Given the description of an element on the screen output the (x, y) to click on. 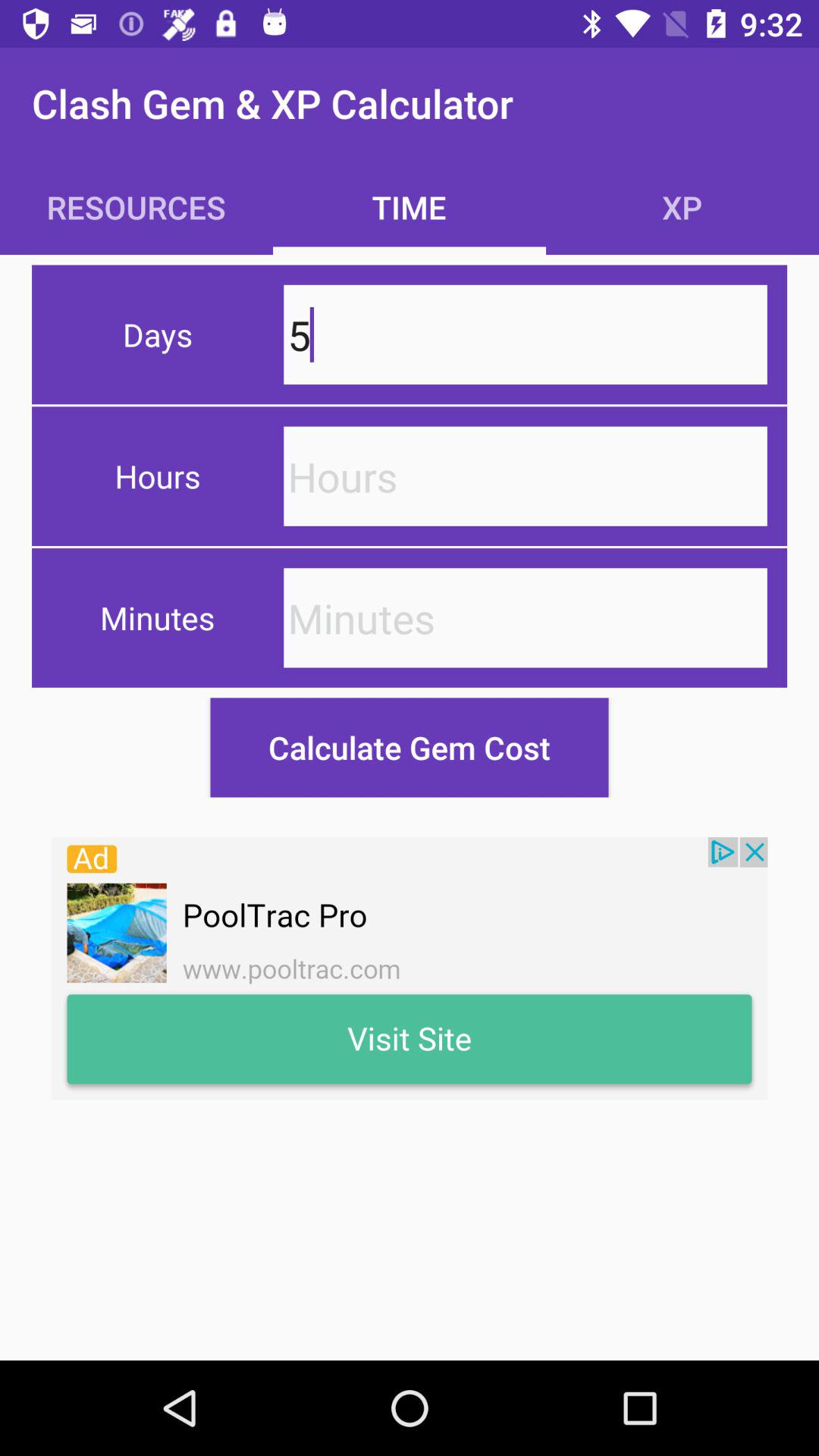
input hours box (525, 476)
